Given the description of an element on the screen output the (x, y) to click on. 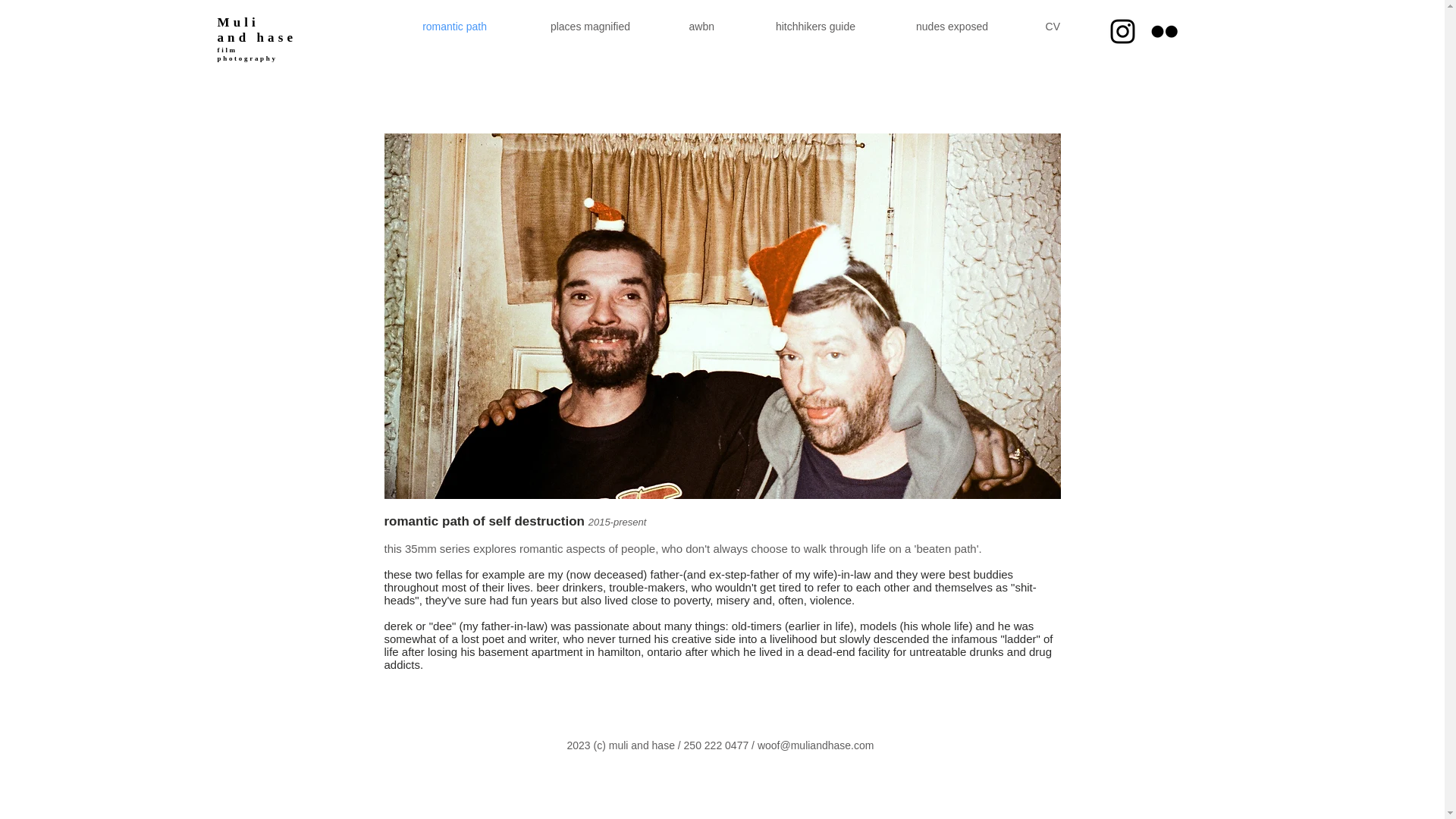
CV (1033, 26)
Muli and hase (256, 30)
hitchhikers guide (793, 26)
nudes exposed (930, 26)
romantic path (432, 26)
awbn (681, 26)
places magnified (568, 26)
